Given the description of an element on the screen output the (x, y) to click on. 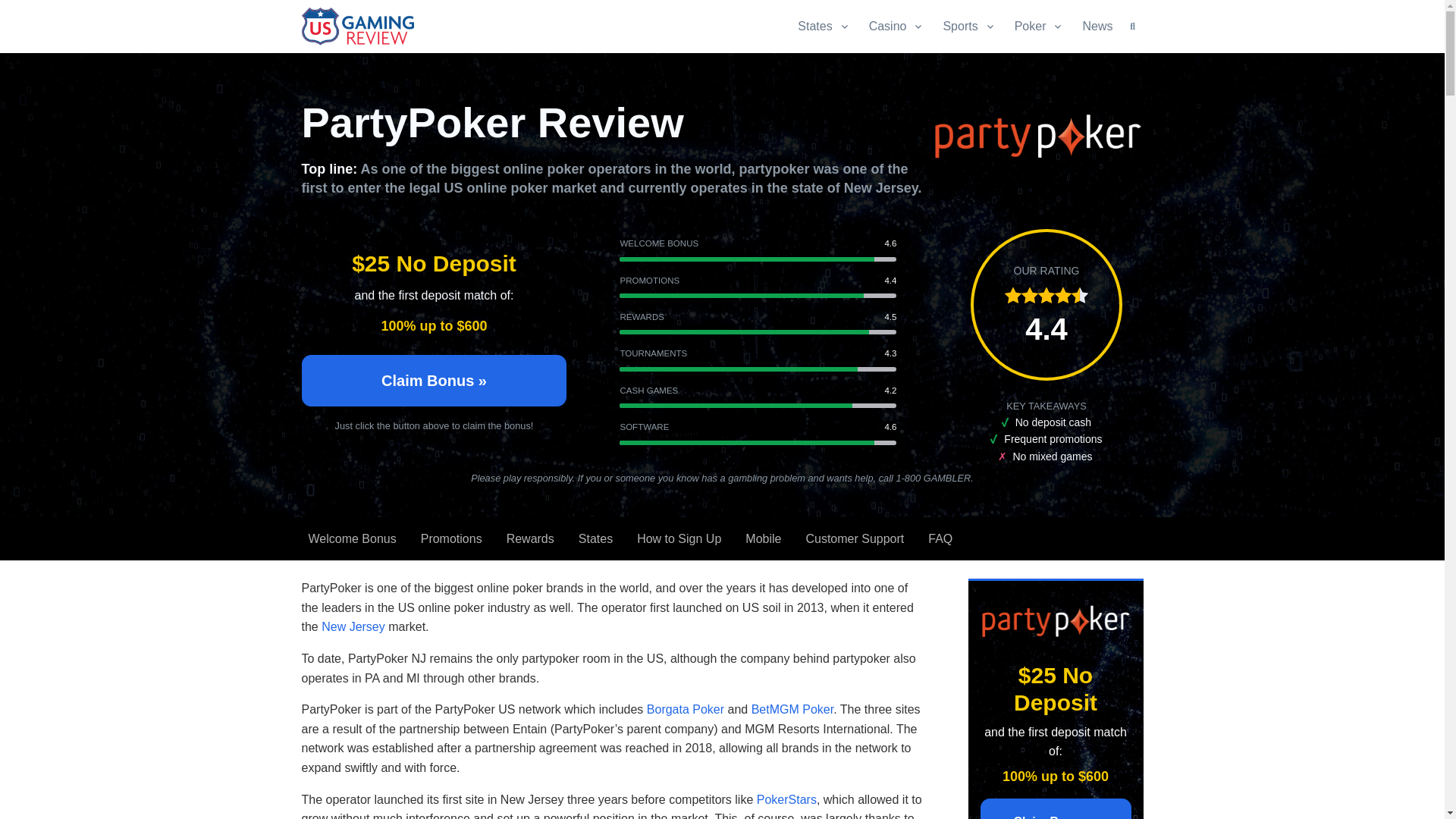
Casino (897, 25)
States (828, 25)
